Given the description of an element on the screen output the (x, y) to click on. 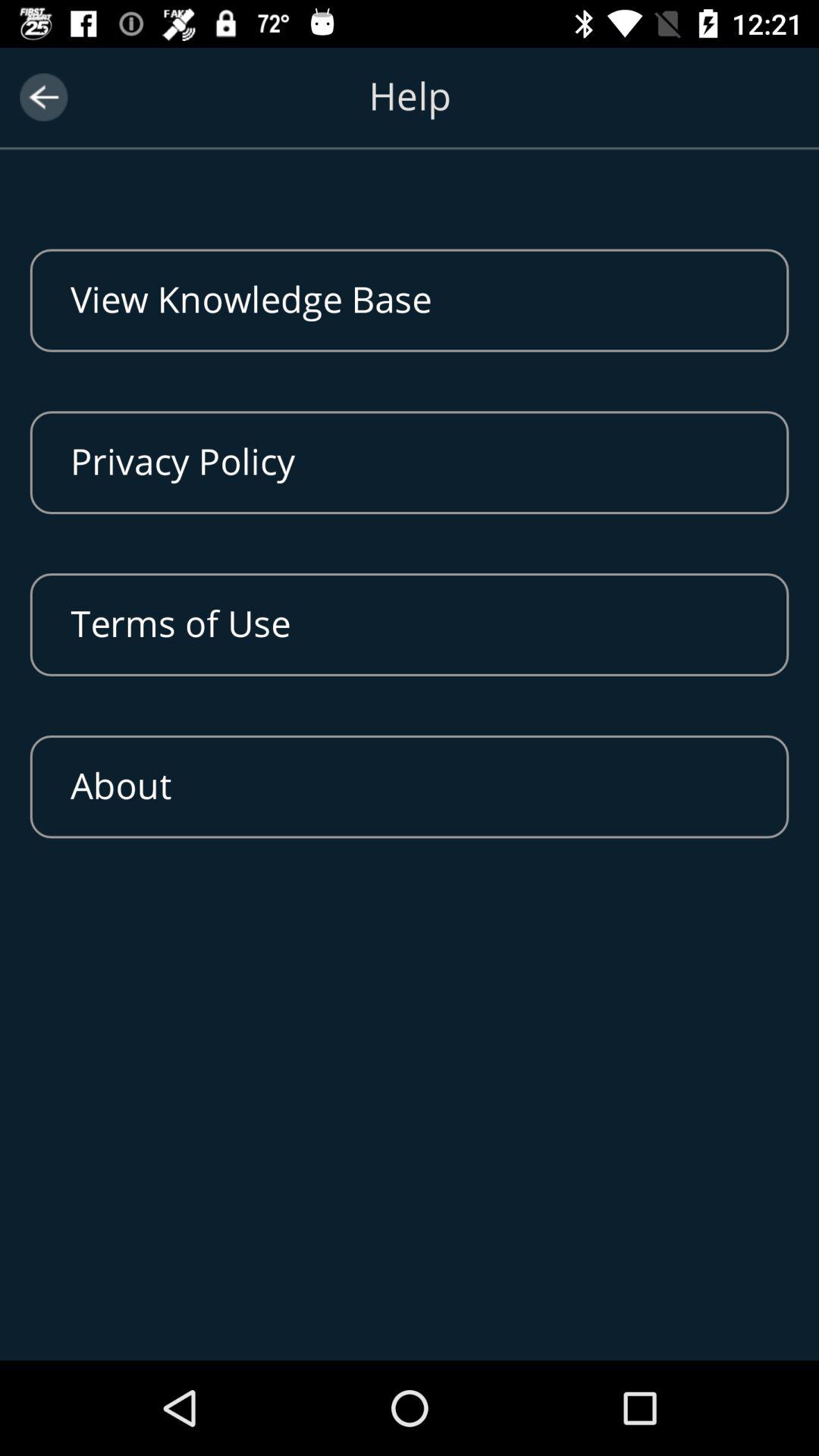
click on the privacy policy option (409, 461)
select the third option (409, 625)
click on about (409, 786)
